Given the description of an element on the screen output the (x, y) to click on. 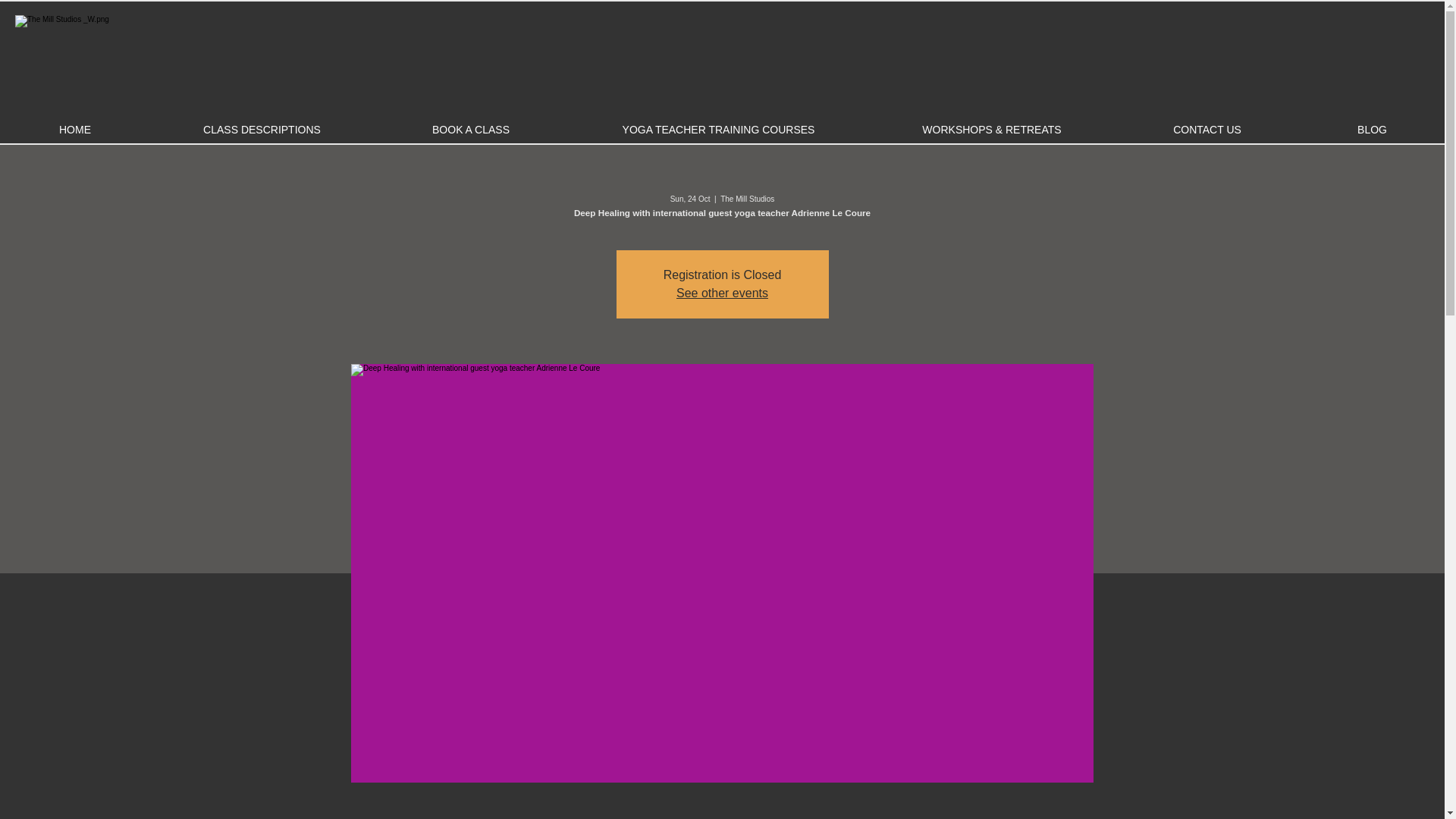
CONTACT US (1207, 129)
BOOK A CLASS (470, 129)
See other events (722, 292)
HOME (74, 129)
